Given the description of an element on the screen output the (x, y) to click on. 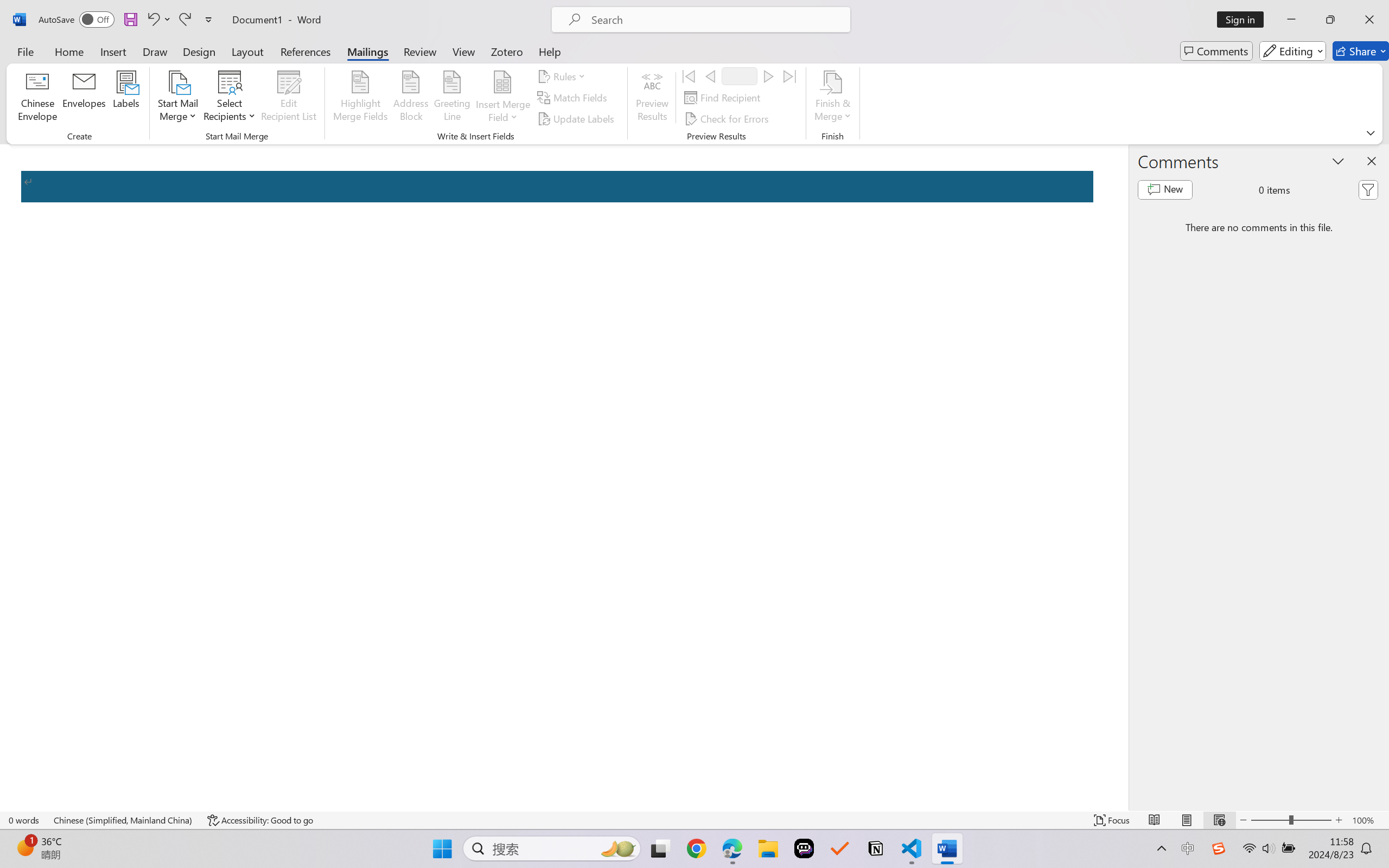
Envelopes... (84, 97)
Last (790, 75)
